Given the description of an element on the screen output the (x, y) to click on. 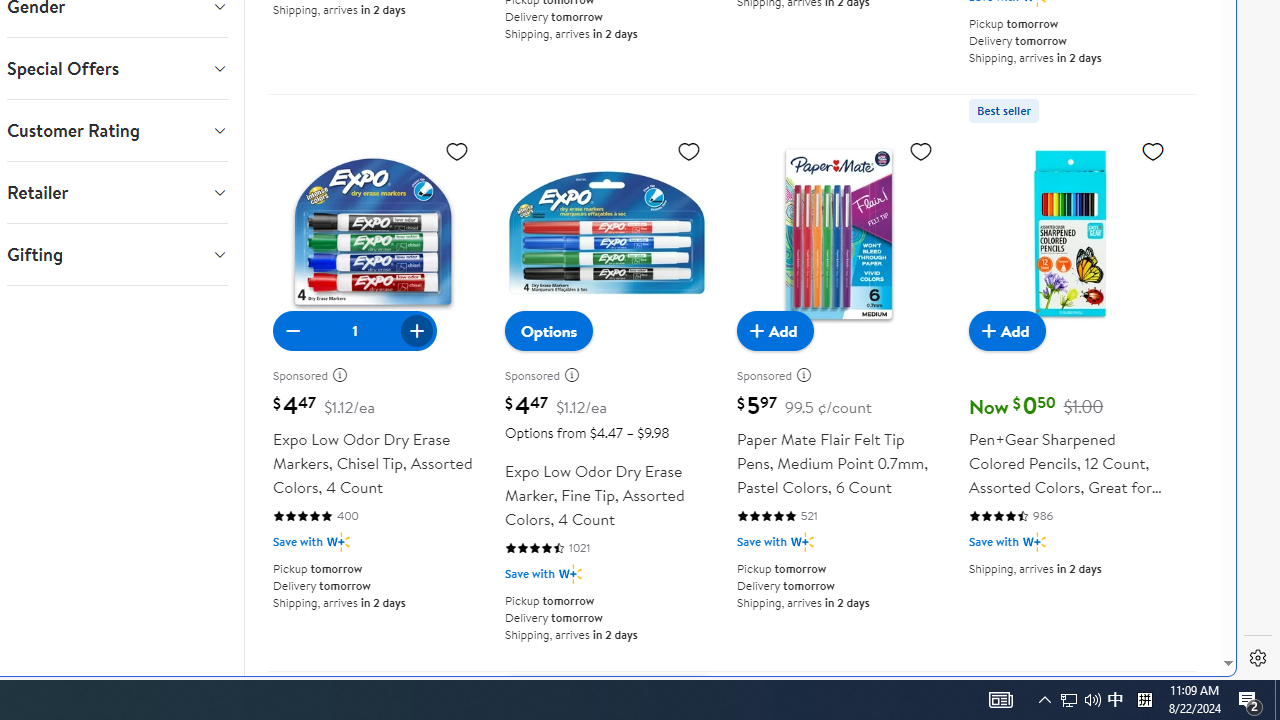
Ad disclaimer and feedback (809, 375)
Walmart Plus (1034, 542)
Settings (1258, 658)
